Given the description of an element on the screen output the (x, y) to click on. 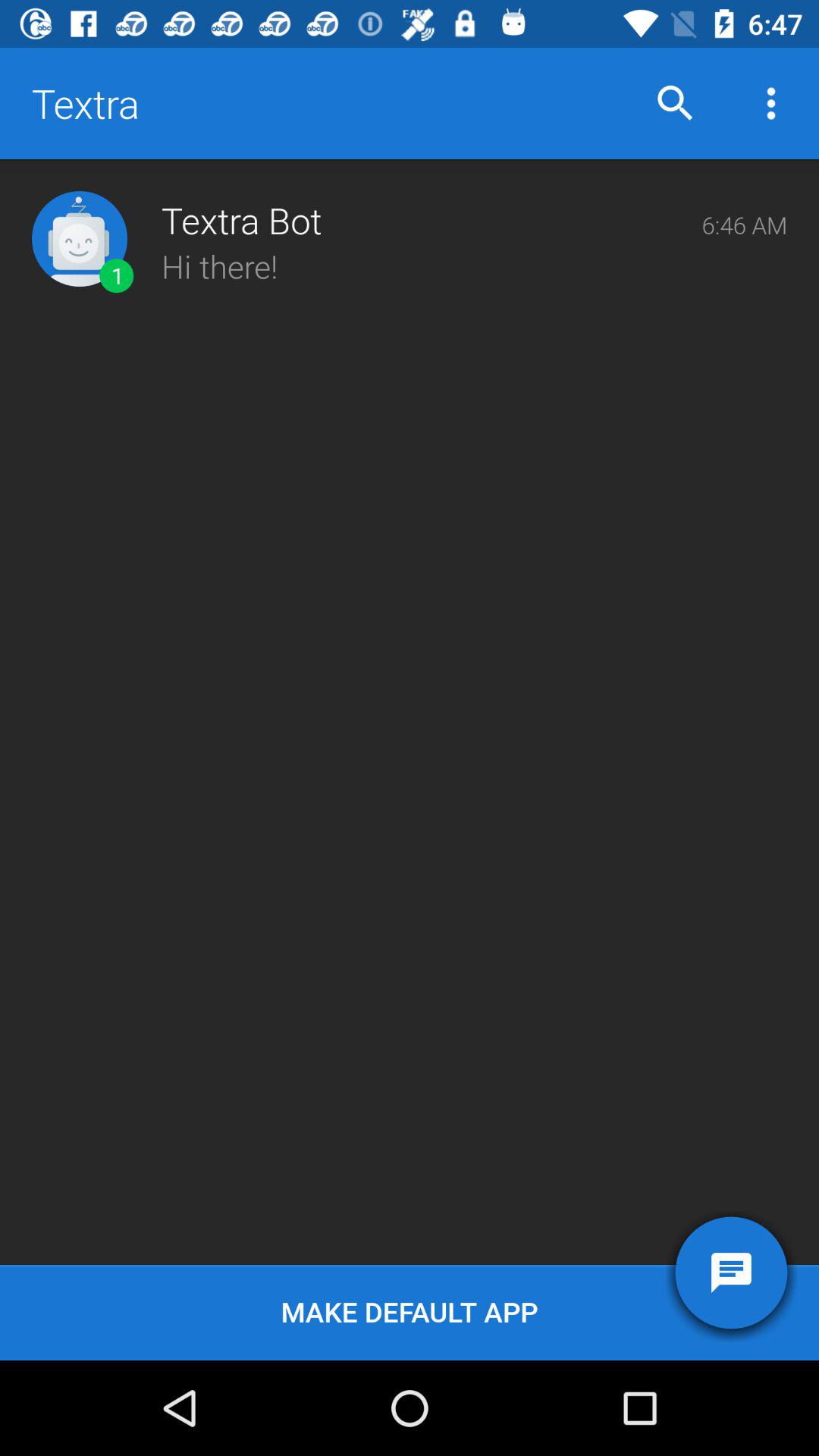
click the item below hi there! icon (409, 1312)
